Given the description of an element on the screen output the (x, y) to click on. 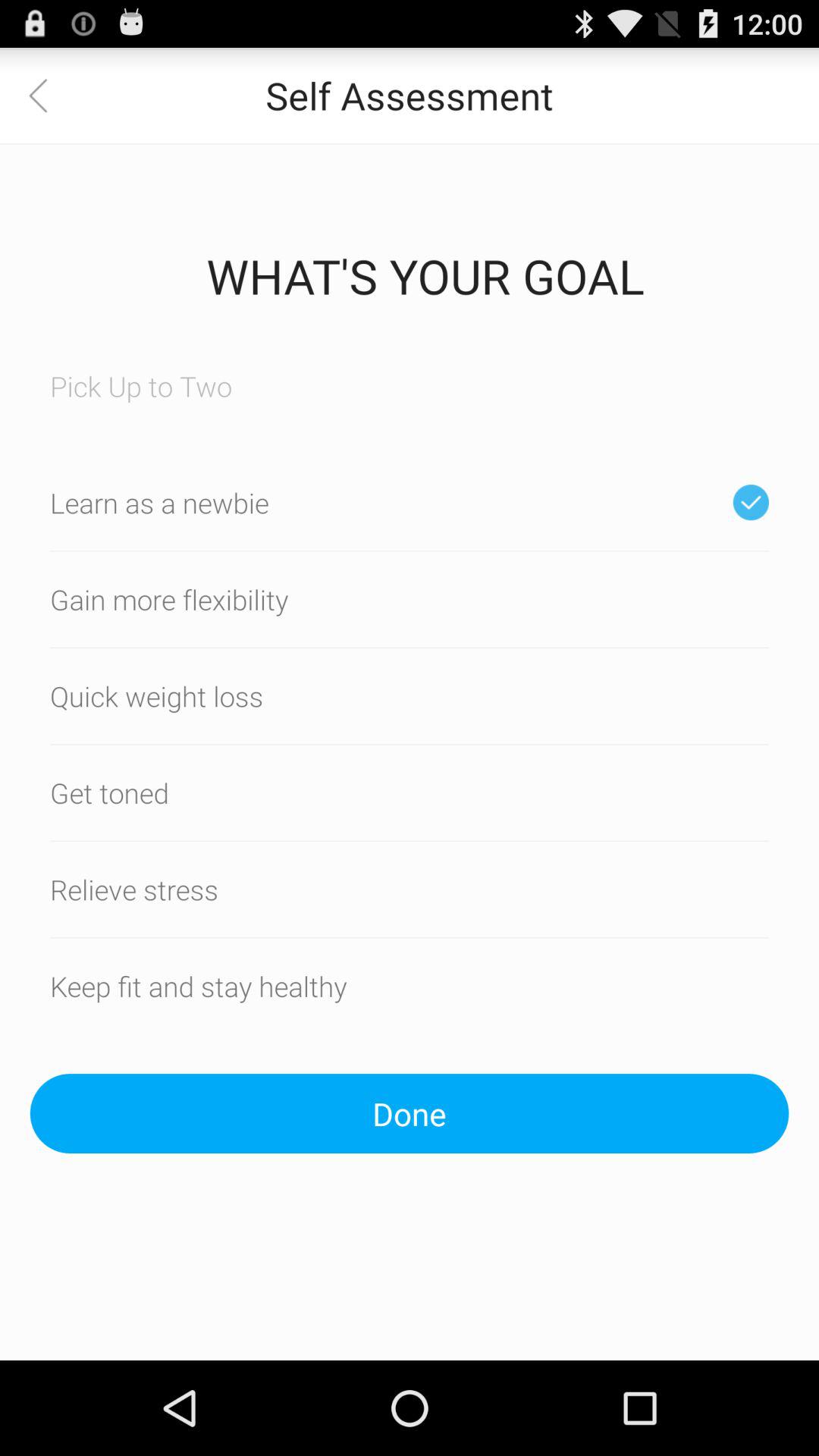
select the item next to self assessment (47, 95)
